Given the description of an element on the screen output the (x, y) to click on. 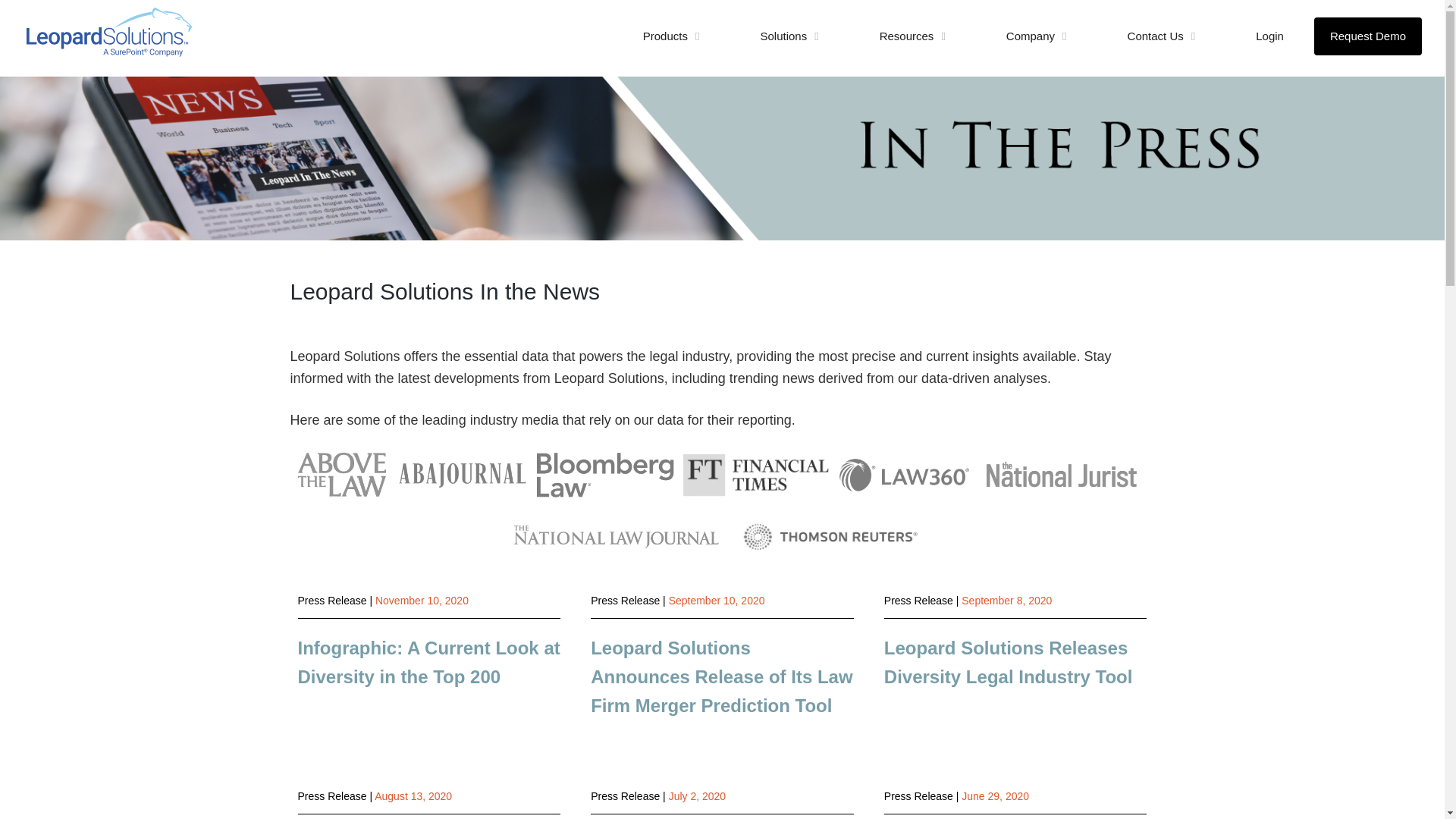
Request Demo (1368, 36)
Contact Us (1161, 36)
Products (671, 36)
Solutions (788, 36)
Company (1036, 36)
Login (1269, 36)
Resources (911, 36)
